Given the description of an element on the screen output the (x, y) to click on. 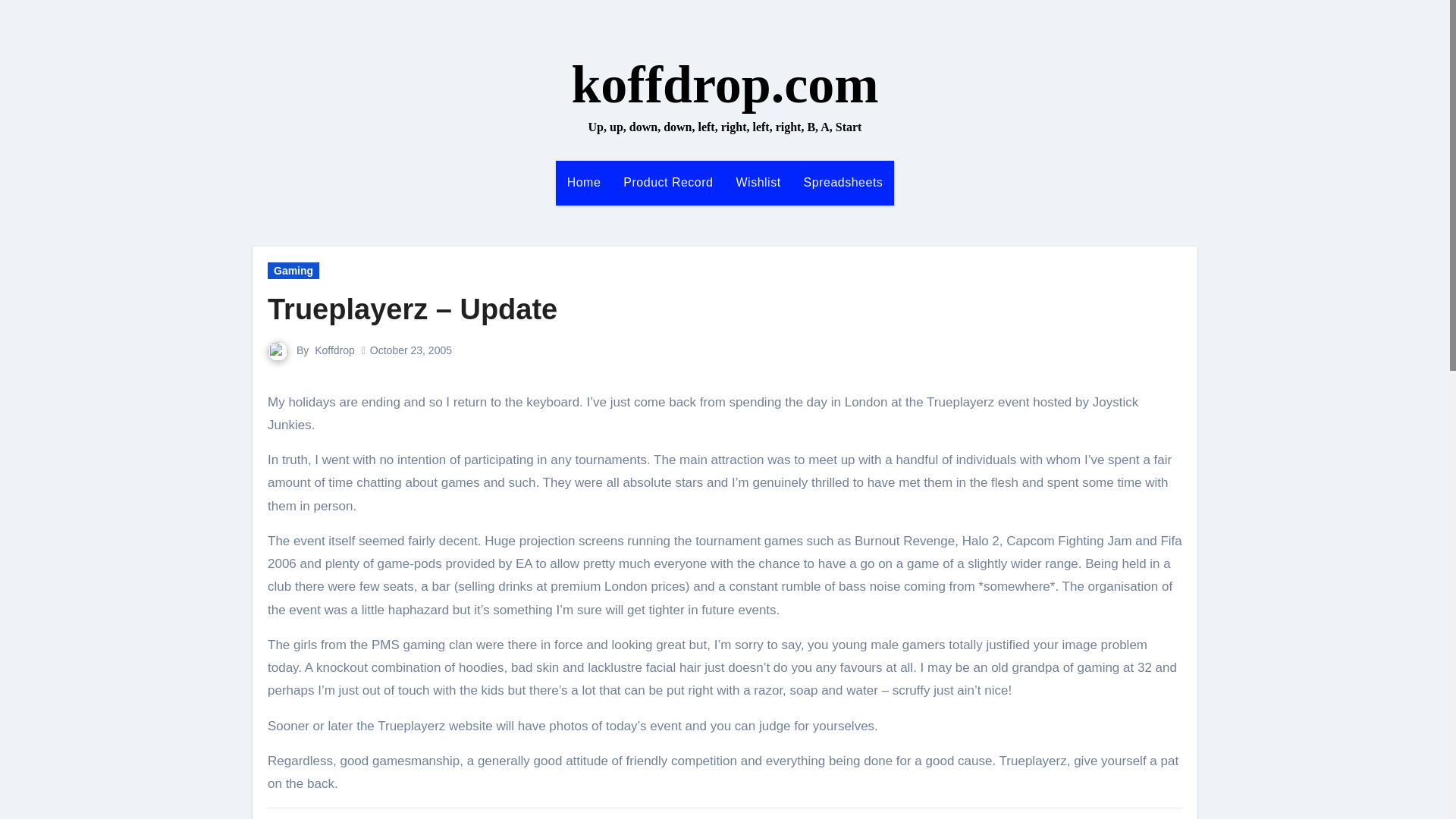
Product Record (667, 182)
Spreadsheets (843, 182)
Gaming (292, 270)
Koffdrop (334, 349)
koffdrop.com (723, 84)
Spreadsheets (843, 182)
Wishlist (758, 182)
Home (584, 182)
Product Record (667, 182)
October 23, 2005 (410, 349)
Home (584, 182)
Wishlist (758, 182)
